Given the description of an element on the screen output the (x, y) to click on. 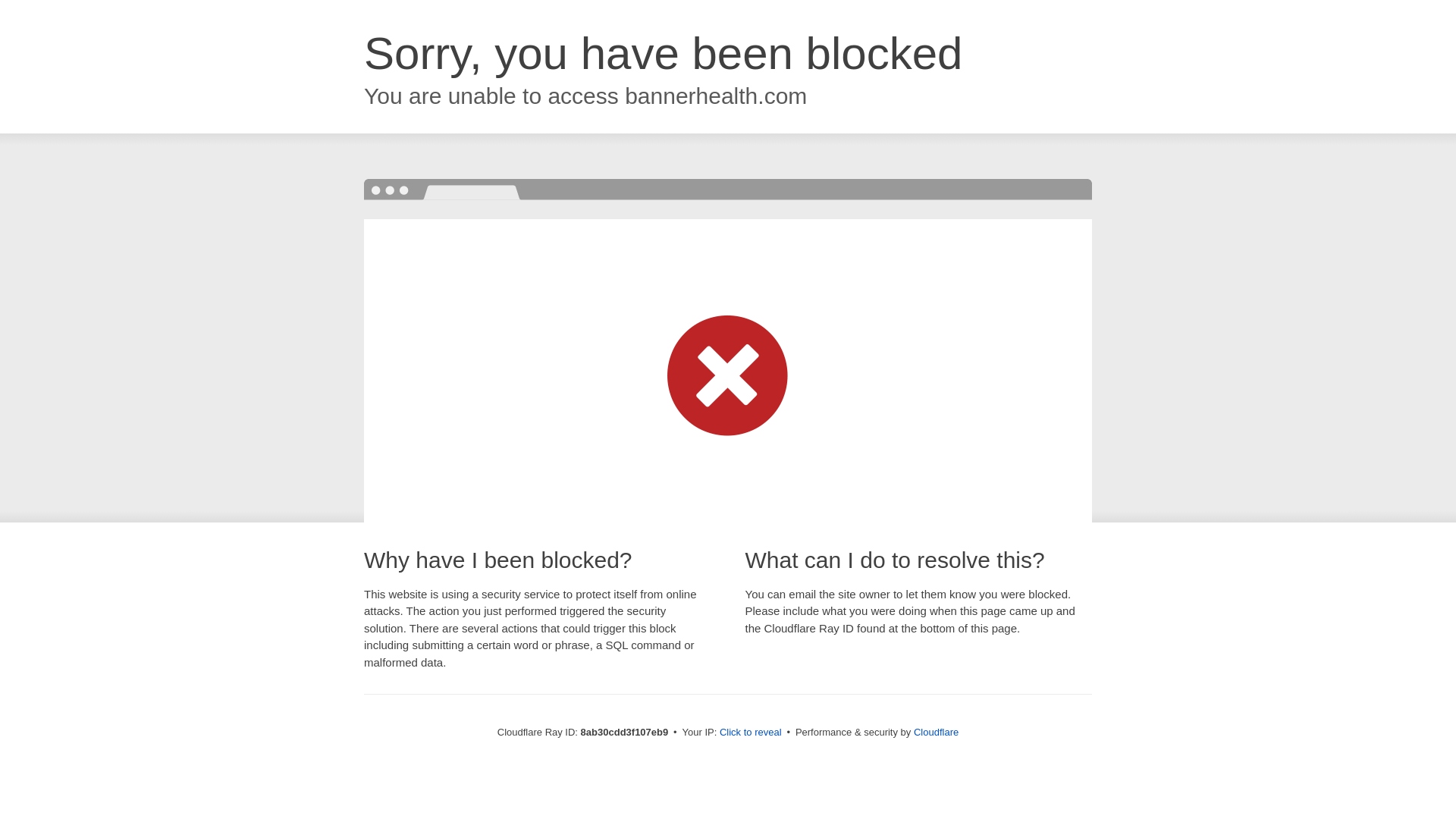
Cloudflare (936, 731)
Click to reveal (750, 732)
